Given the description of an element on the screen output the (x, y) to click on. 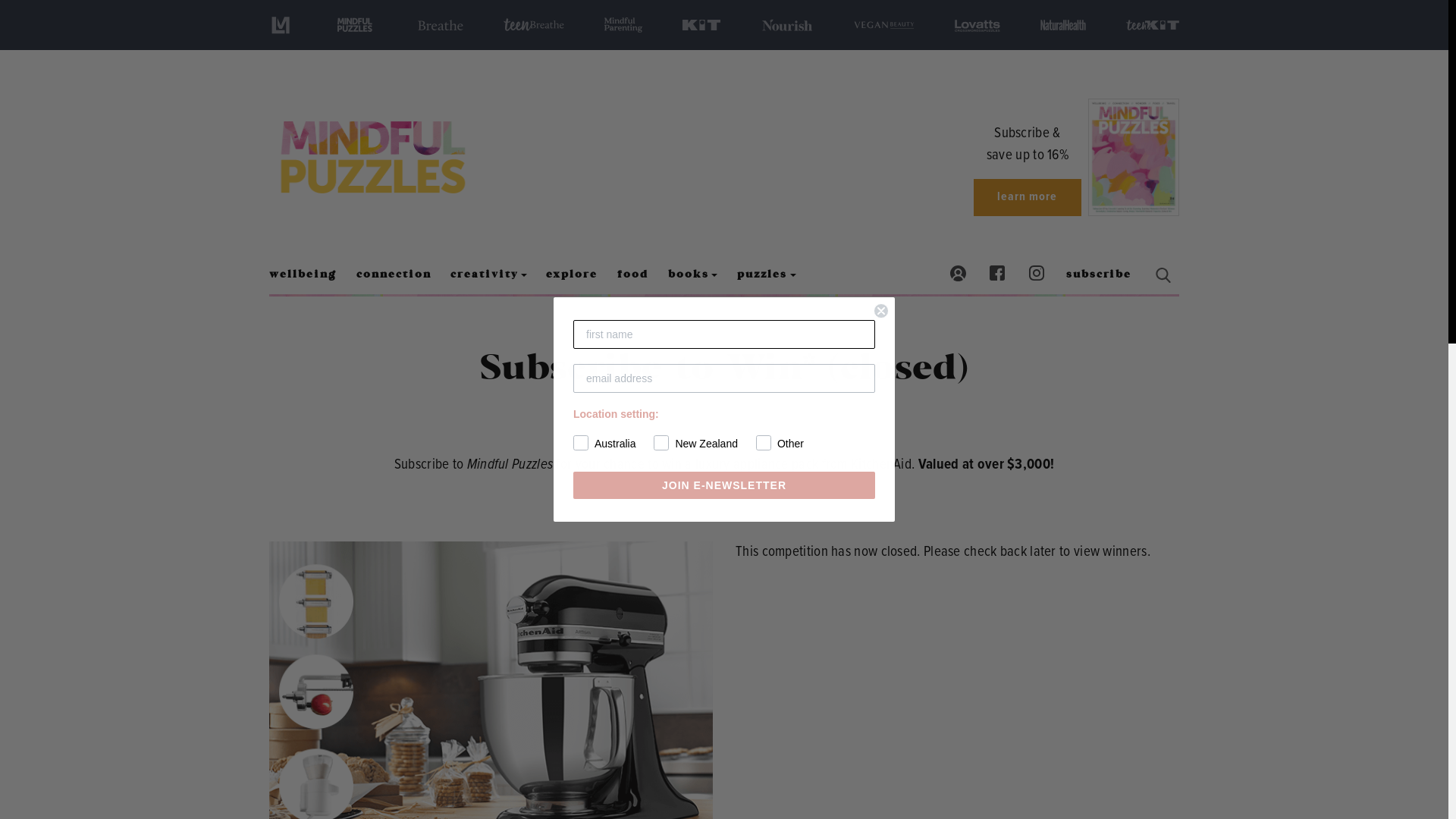
wellbeing Element type: text (307, 274)
creativity Element type: text (488, 274)
explore Element type: text (572, 274)
food Element type: text (632, 274)
books Element type: text (692, 274)
puzzles Element type: text (766, 274)
learn more Element type: text (1027, 197)
connection Element type: text (393, 274)
subscribe Element type: text (1098, 274)
